Given the description of an element on the screen output the (x, y) to click on. 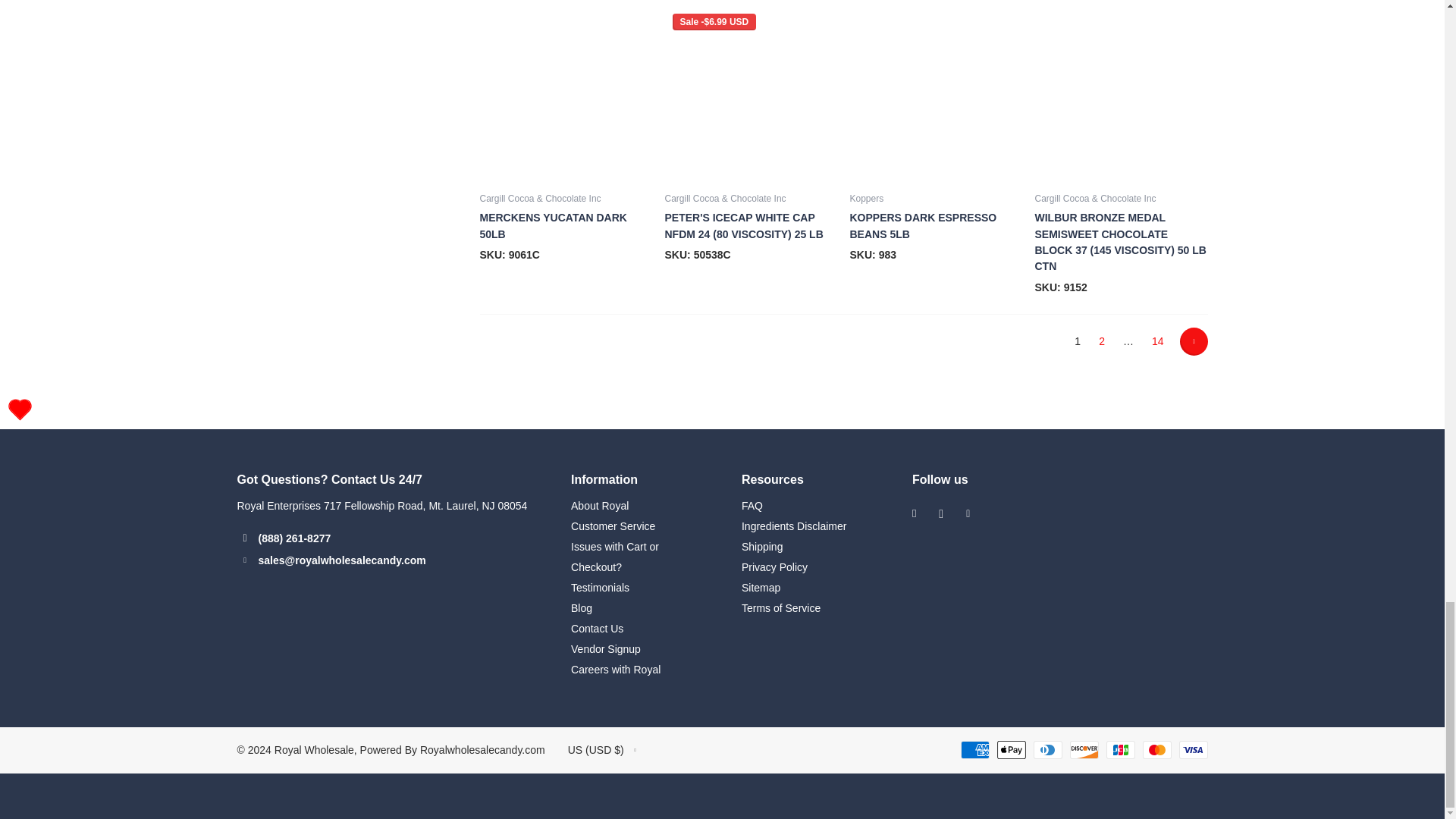
Diners Club (1046, 750)
American Express (973, 750)
FAQ (751, 505)
Issues with Cart or Checkout? (614, 556)
Customer Service (612, 526)
Vendor Signup (605, 648)
Blog (581, 607)
Contact Us (596, 628)
Careers with Royal (615, 669)
JCB (1119, 750)
About Royal (599, 505)
Mastercard (1155, 750)
Visa (1192, 750)
Ingredients Disclaimer (794, 526)
Apple Pay (1010, 750)
